Given the description of an element on the screen output the (x, y) to click on. 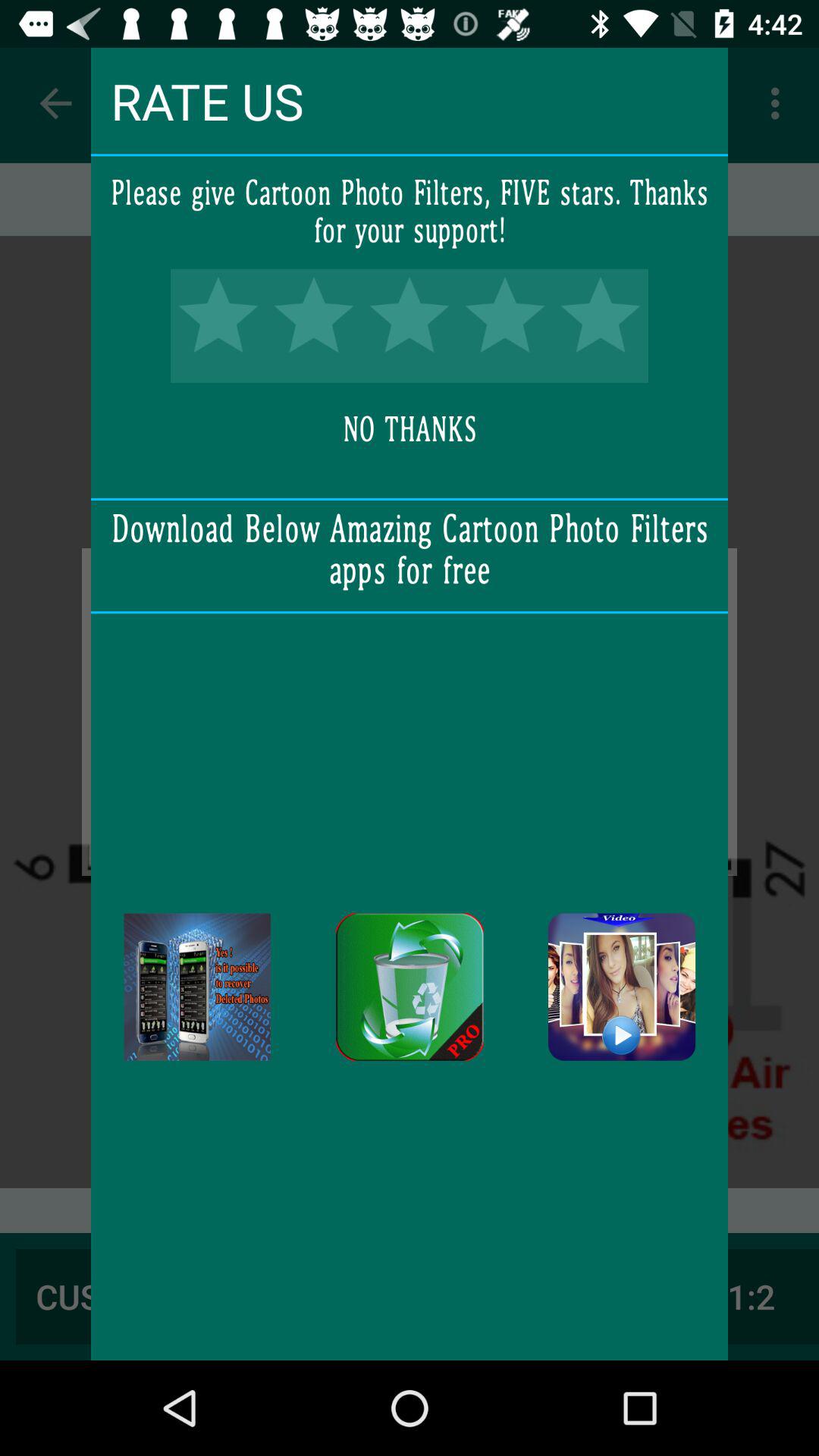
click and open link (621, 986)
